Given the description of an element on the screen output the (x, y) to click on. 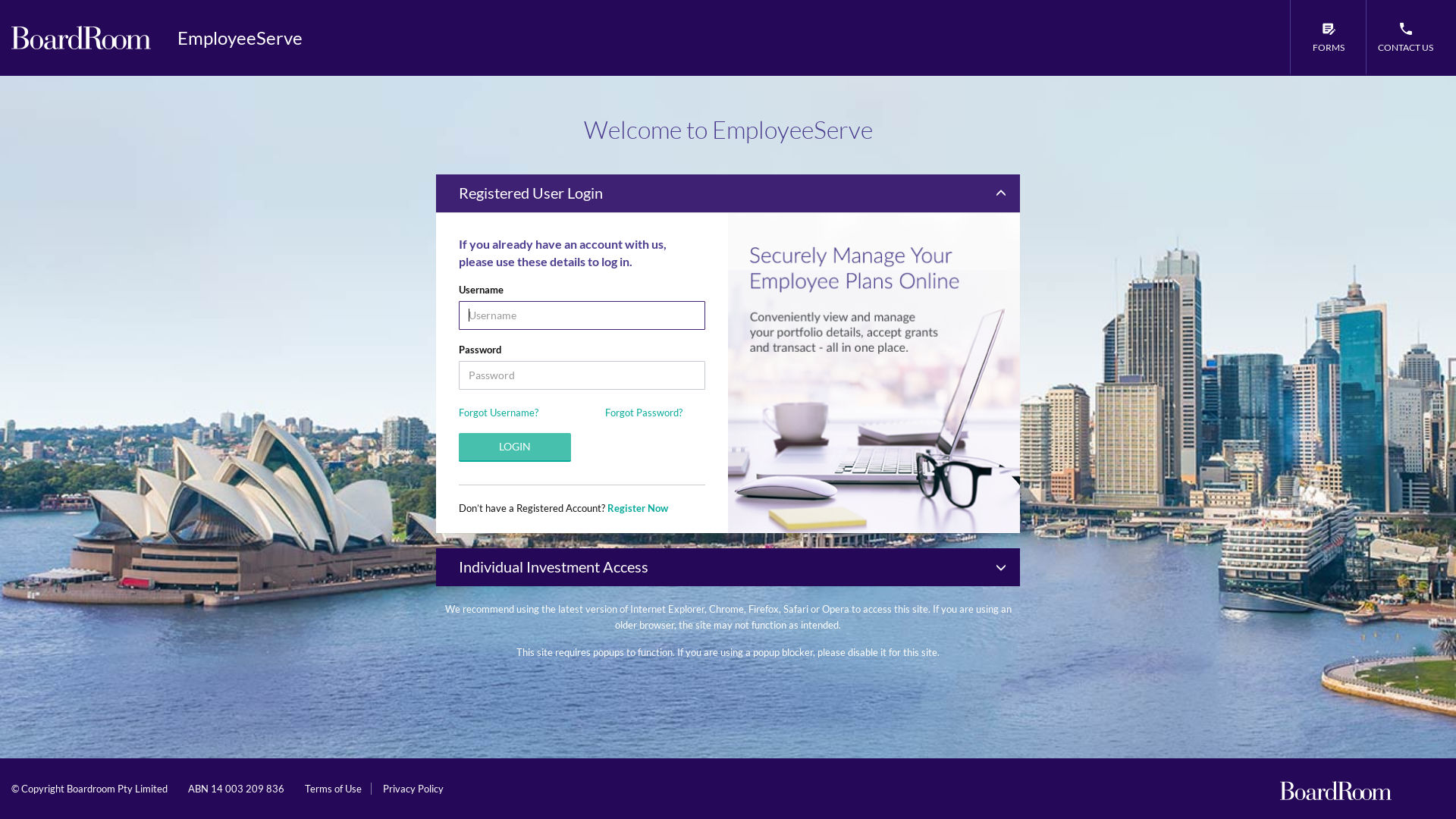
LOGIN Element type: text (514, 447)
Individual Investment Access Element type: text (727, 567)
CONTACT US Element type: text (1404, 37)
Forgot Username? Element type: text (498, 412)
Forgot Password? Element type: text (643, 412)
Register Now Element type: text (637, 508)
Registered User Login Element type: text (727, 193)
Terms of Use Element type: text (333, 788)
FORMS Element type: text (1327, 37)
Privacy Policy Element type: text (412, 788)
